Given the description of an element on the screen output the (x, y) to click on. 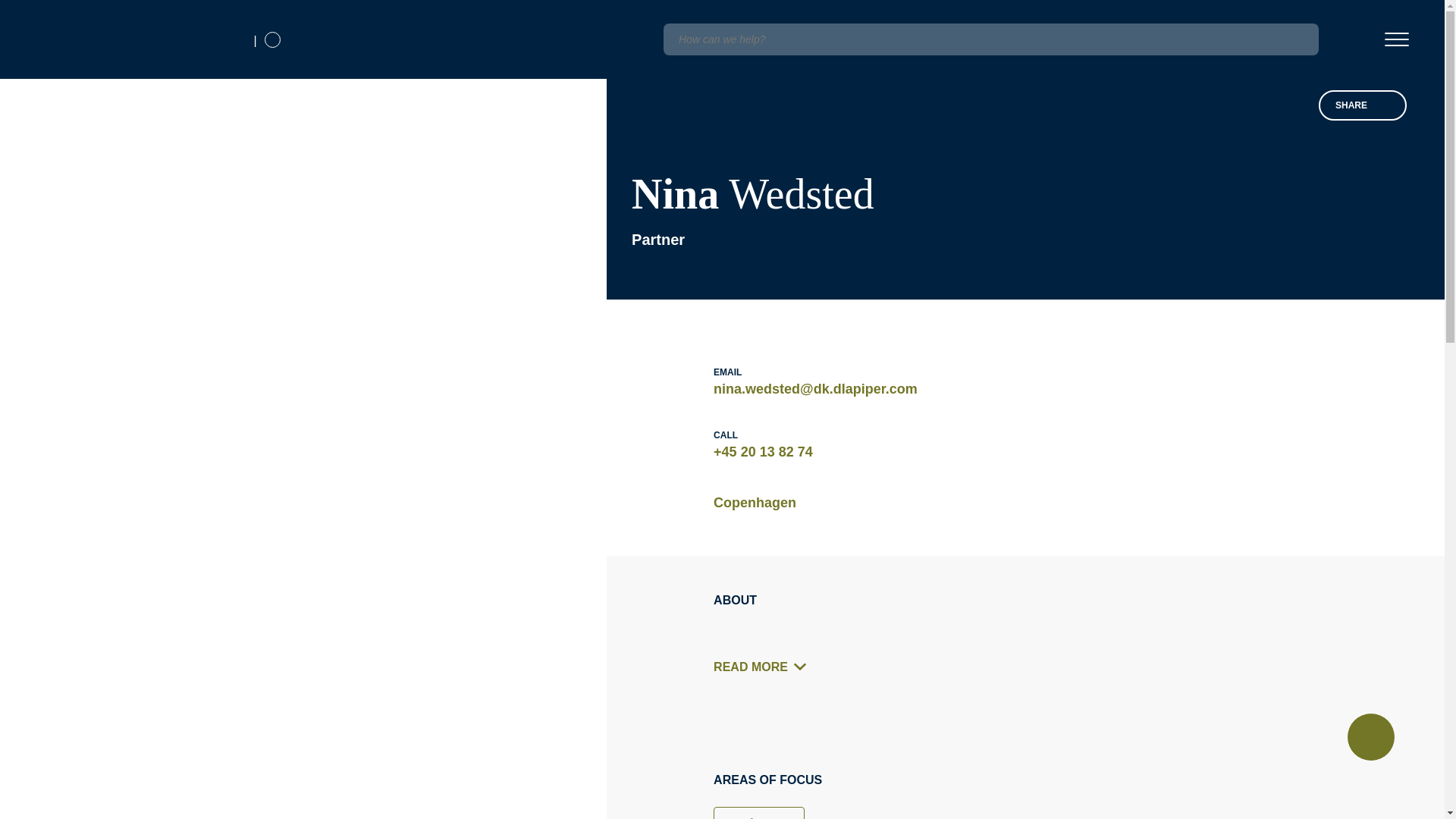
Insert a query. Press enter to send (990, 39)
Copenhagen (754, 502)
READ MORE (764, 667)
Employment (759, 812)
